Given the description of an element on the screen output the (x, y) to click on. 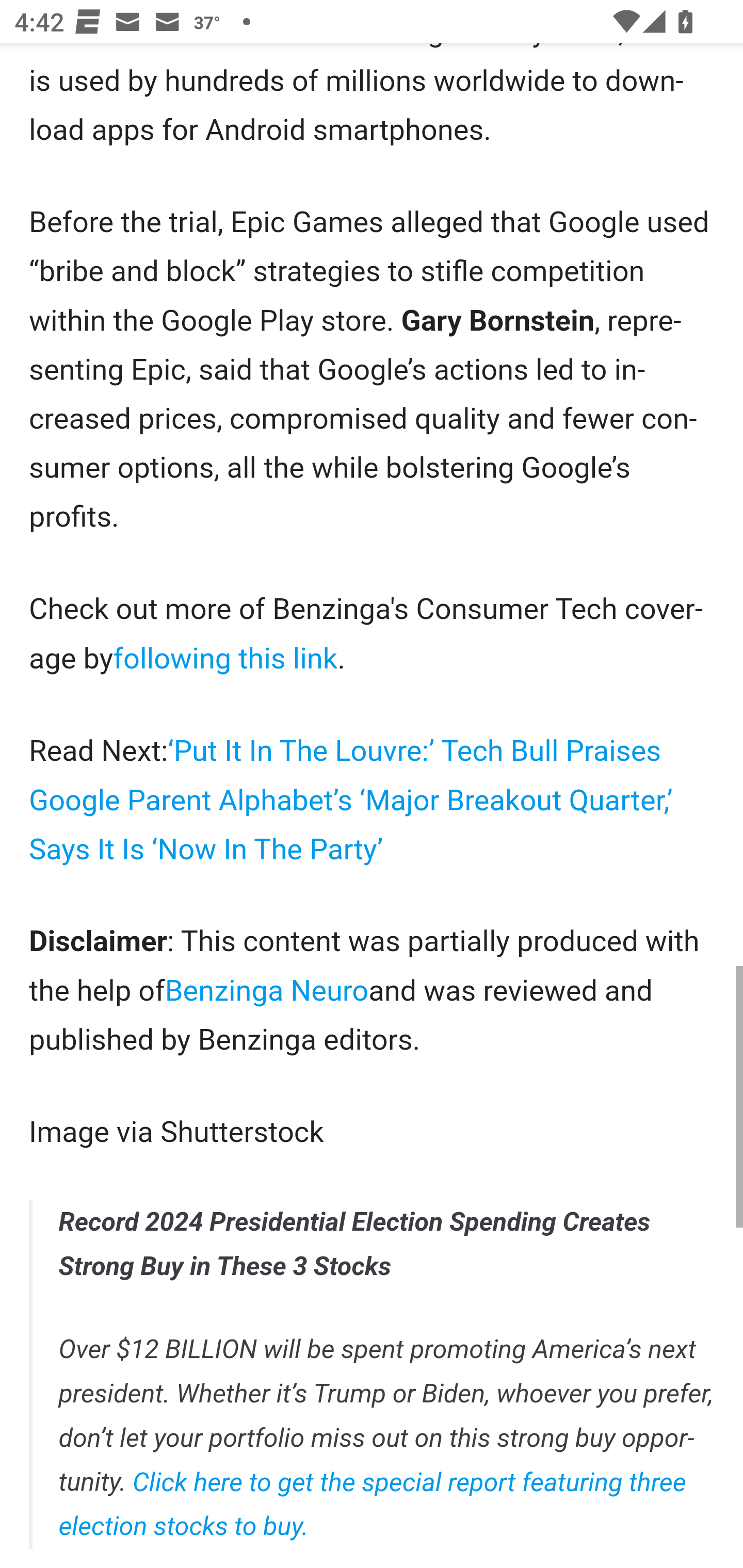
following this link (225, 658)
Benzinga Neuro (267, 990)
